Given the description of an element on the screen output the (x, y) to click on. 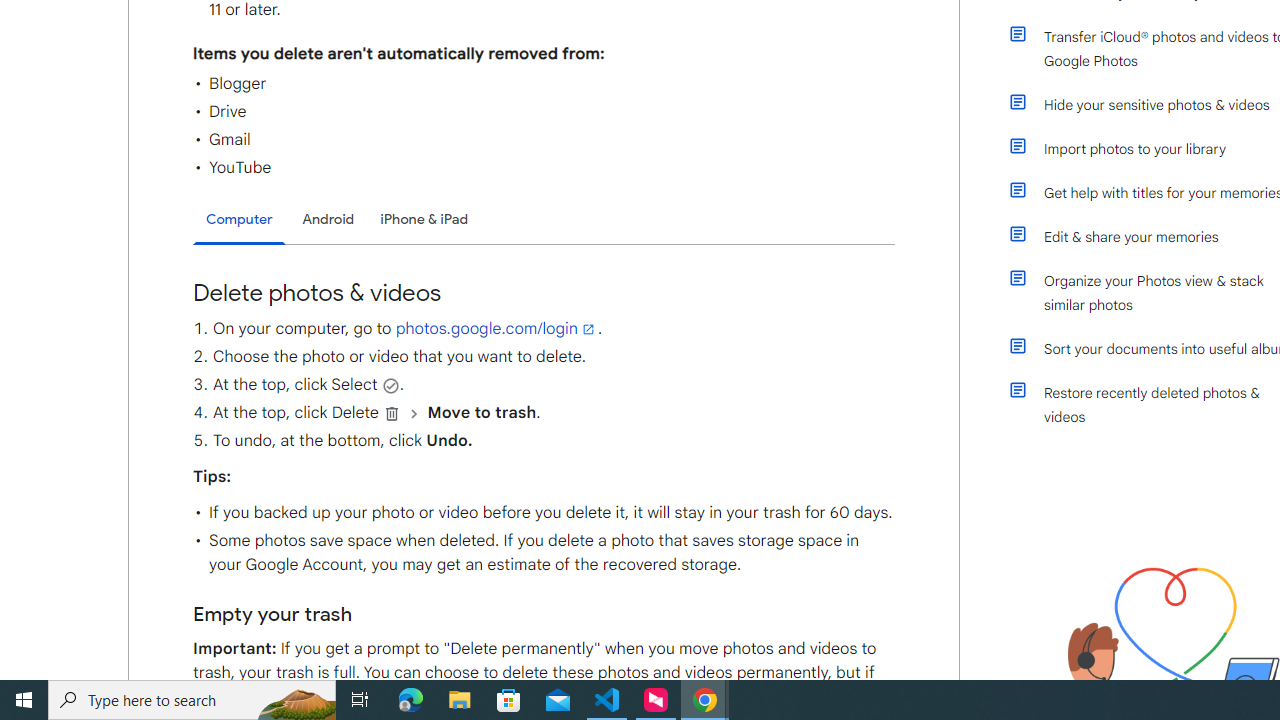
photos.google.com/login (496, 328)
Select (390, 385)
and then (413, 413)
Delete (391, 413)
iPhone & iPad (424, 219)
Android (328, 219)
Computer (239, 219)
